Given the description of an element on the screen output the (x, y) to click on. 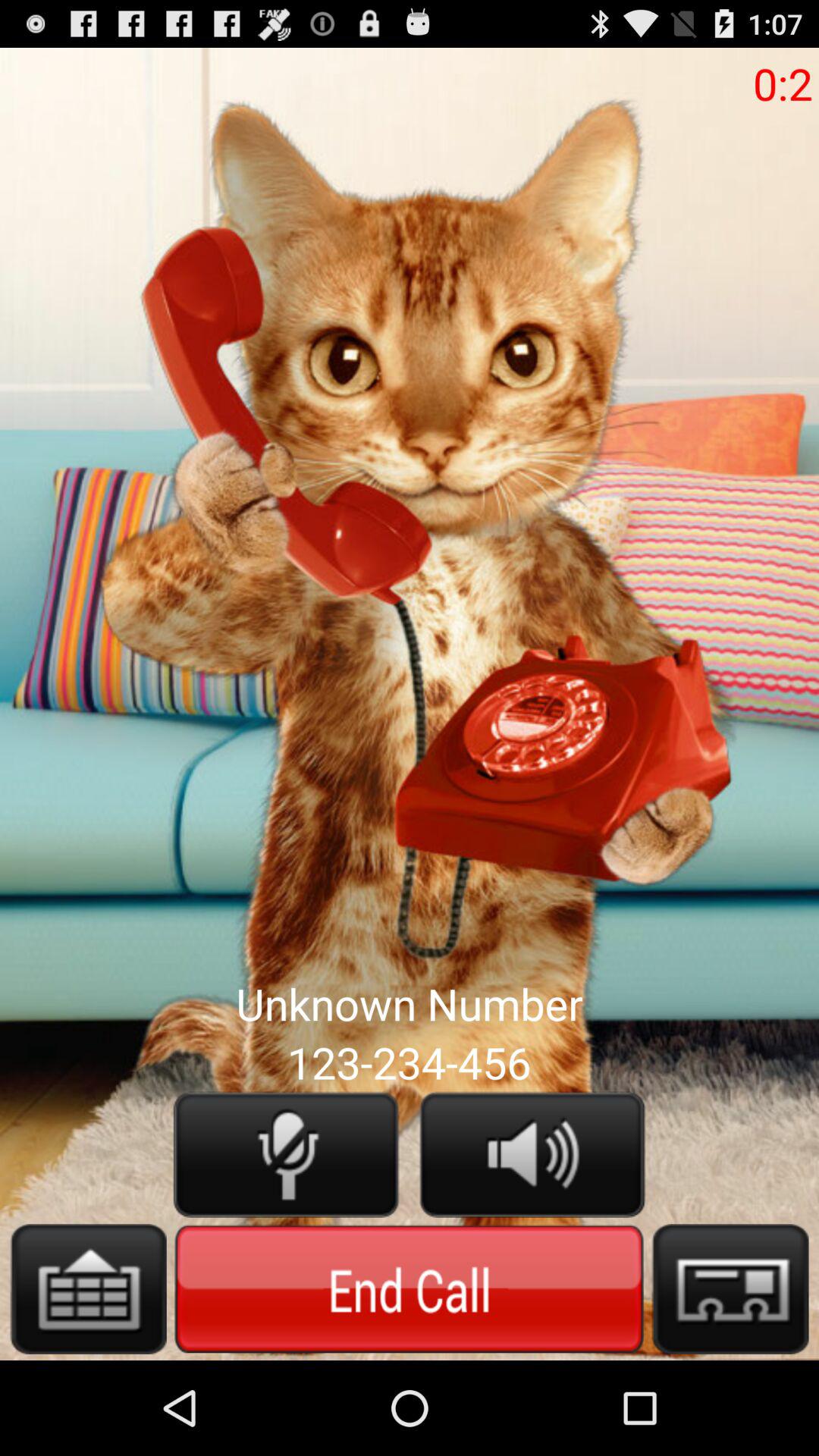
click the microphone option (286, 1154)
